Given the description of an element on the screen output the (x, y) to click on. 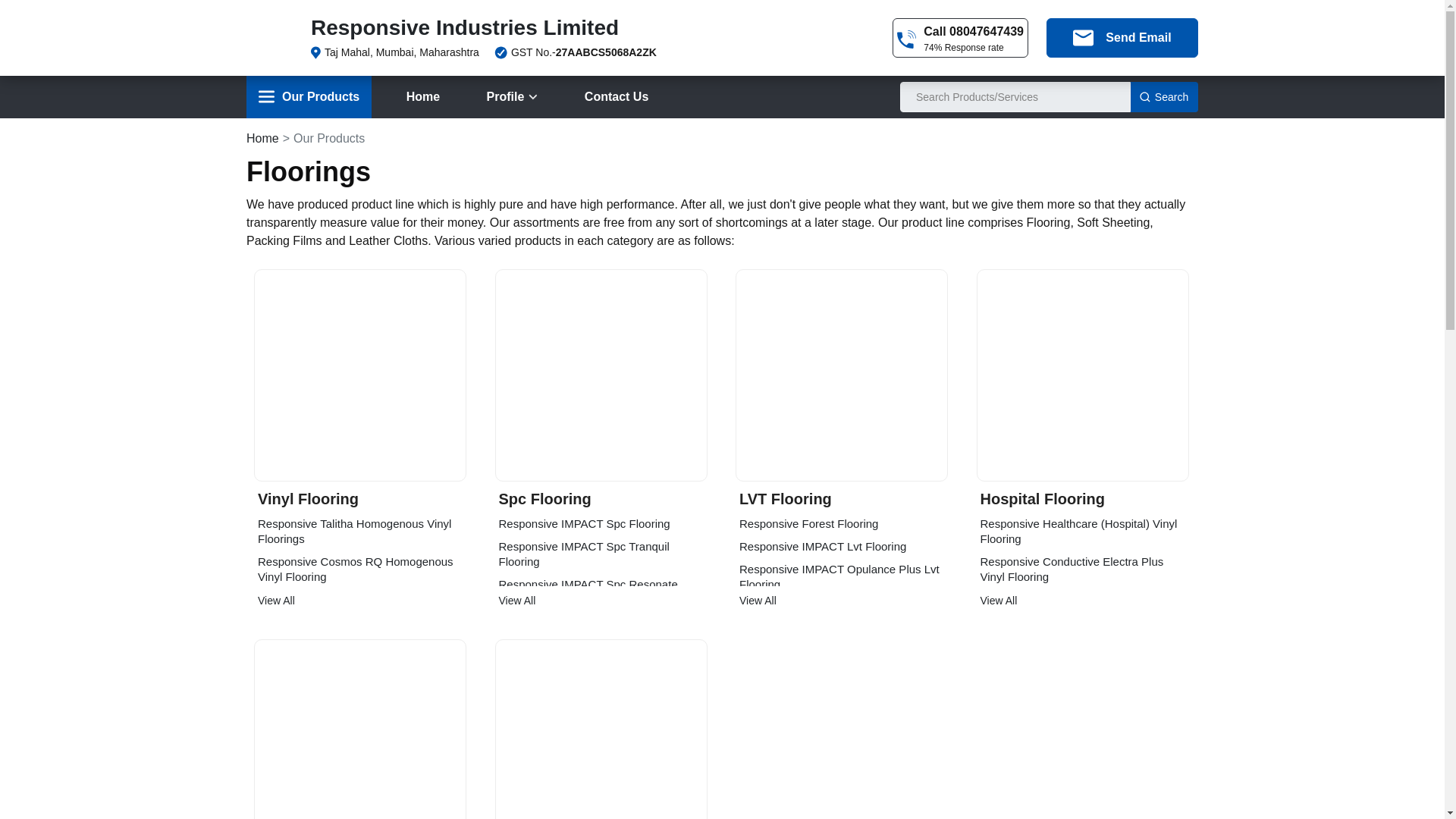
Send Email (1122, 37)
Home (422, 96)
Profile (512, 96)
Our Products (308, 96)
